Given the description of an element on the screen output the (x, y) to click on. 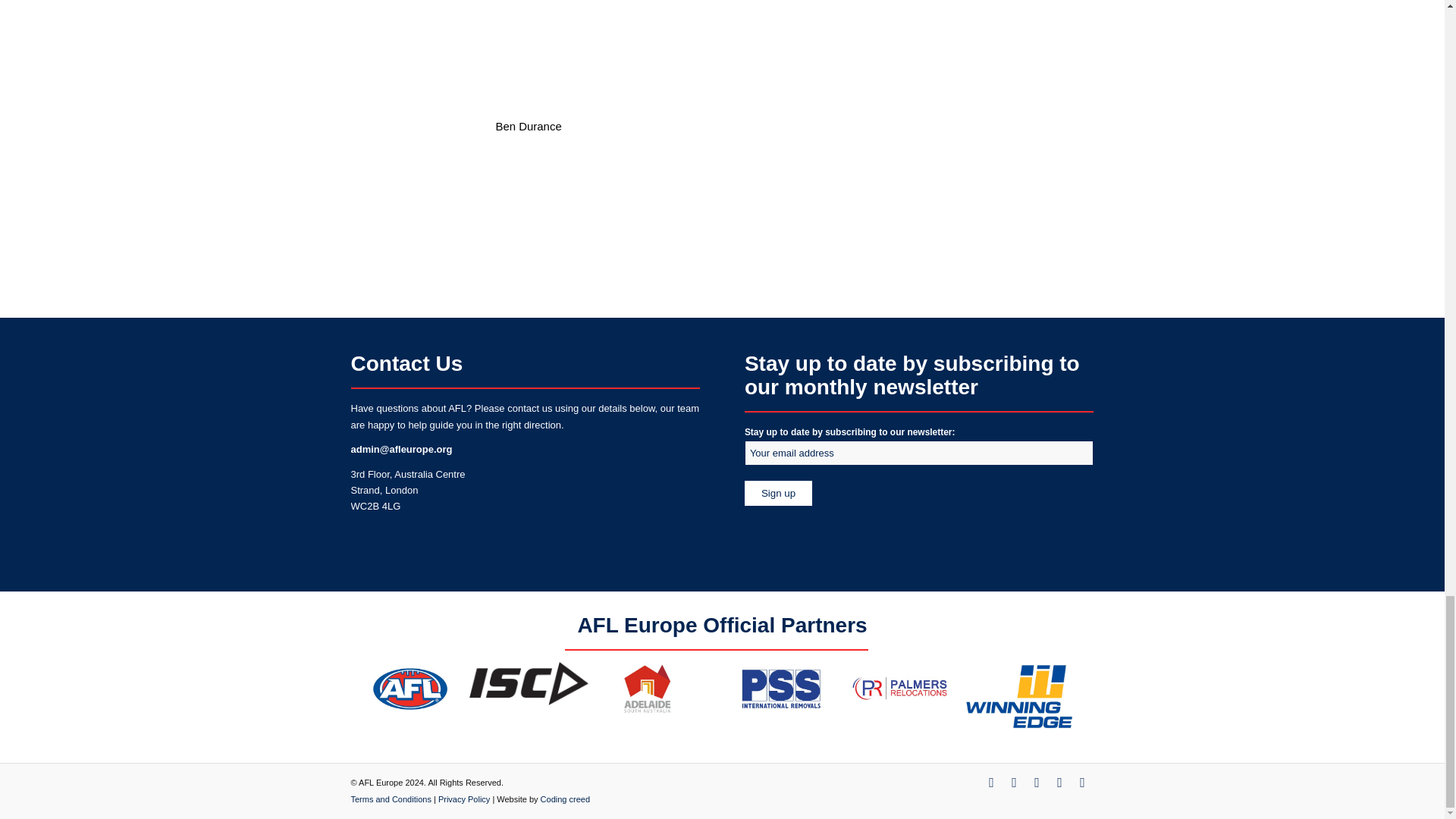
Sign up (407, 490)
Sign up (778, 493)
